Given the description of an element on the screen output the (x, y) to click on. 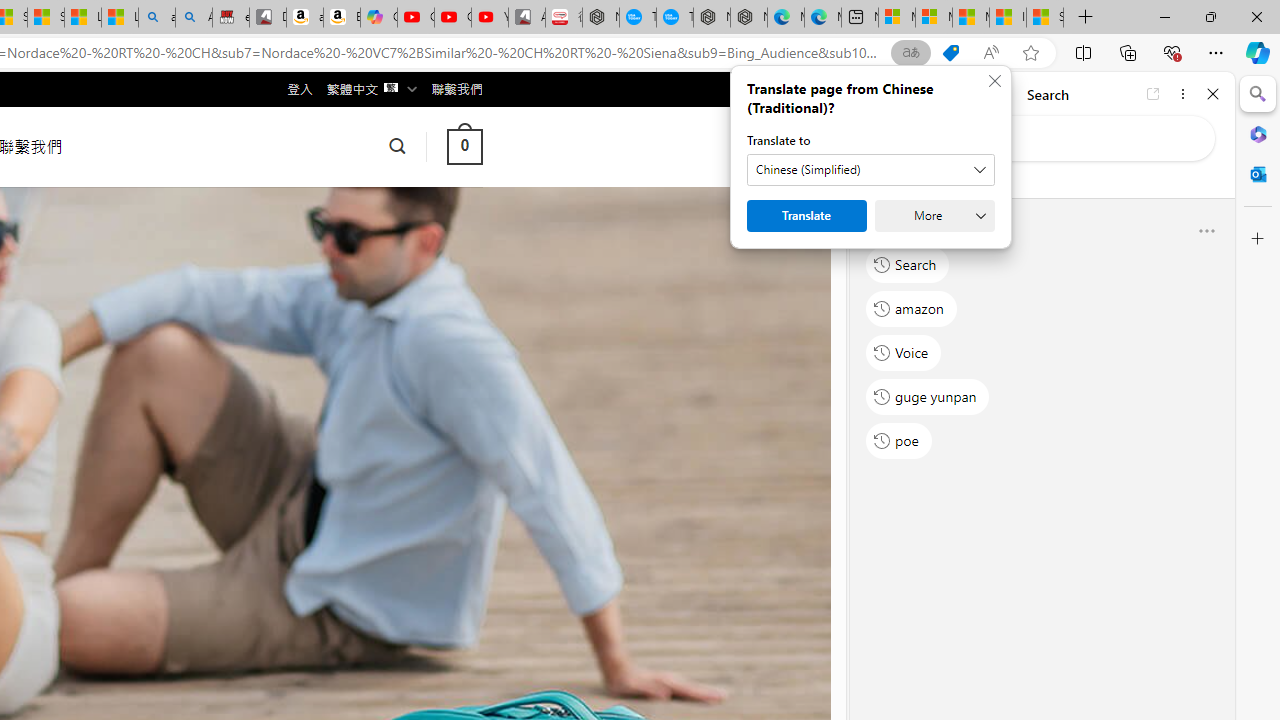
Forward (906, 93)
Voice (904, 352)
 0  (464, 146)
guge yunpan (927, 396)
YouTube Kids - An App Created for Kids to Explore Content (490, 17)
